Given the description of an element on the screen output the (x, y) to click on. 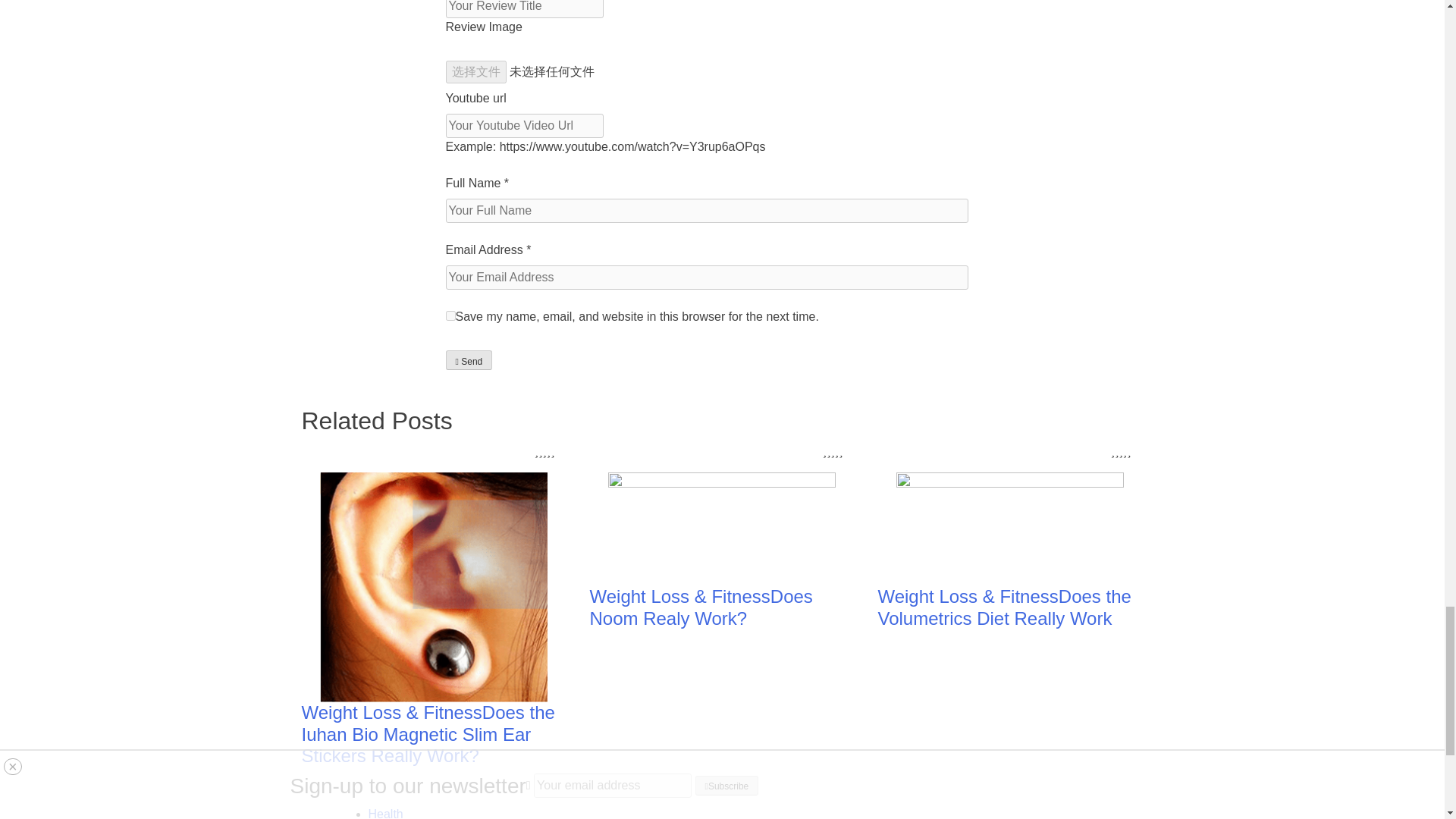
yes (450, 316)
Does the Iuhan Bio Magnetic Slim Ear Stickers Really Work? (427, 733)
Send (469, 360)
Does Noom Realy Work? (700, 607)
